Given the description of an element on the screen output the (x, y) to click on. 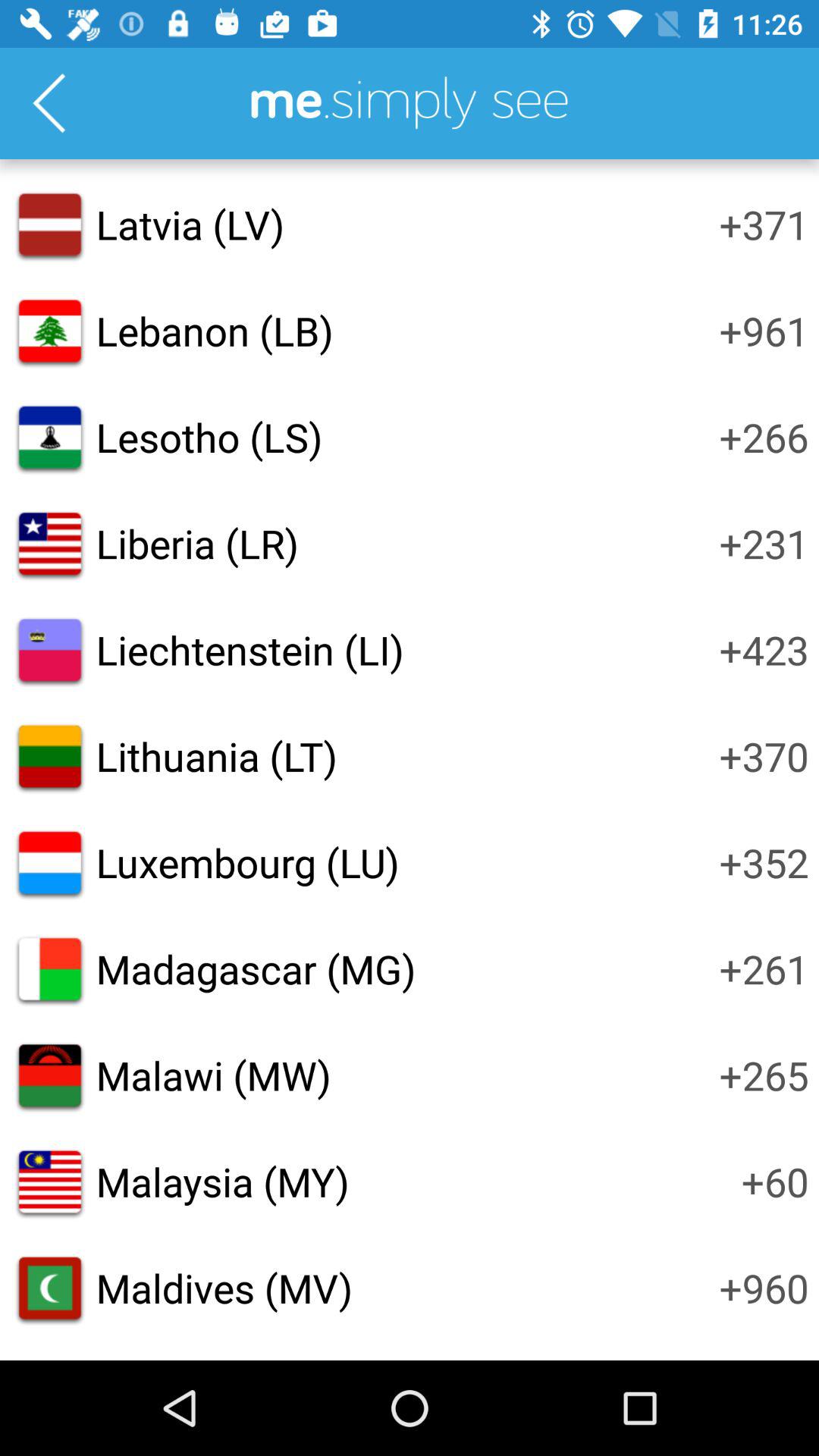
turn off the item next to the madagascar (mg) (763, 968)
